Given the description of an element on the screen output the (x, y) to click on. 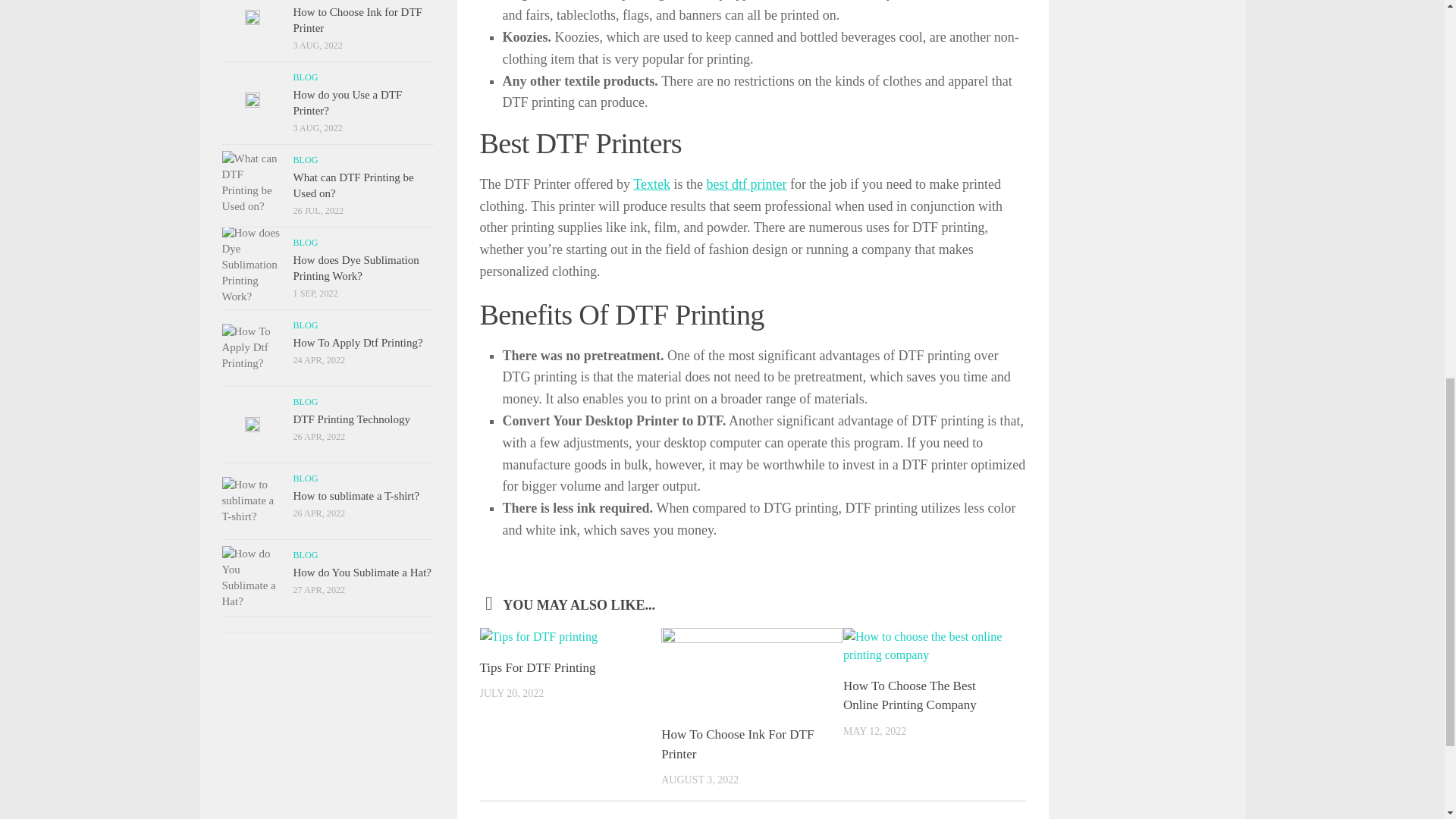
Tips For DTF Printing (537, 667)
Textek (651, 183)
How To Choose The Best Online Printing Company (909, 695)
How To Choose Ink For DTF Printer (737, 744)
best dtf printer (746, 183)
